Given the description of an element on the screen output the (x, y) to click on. 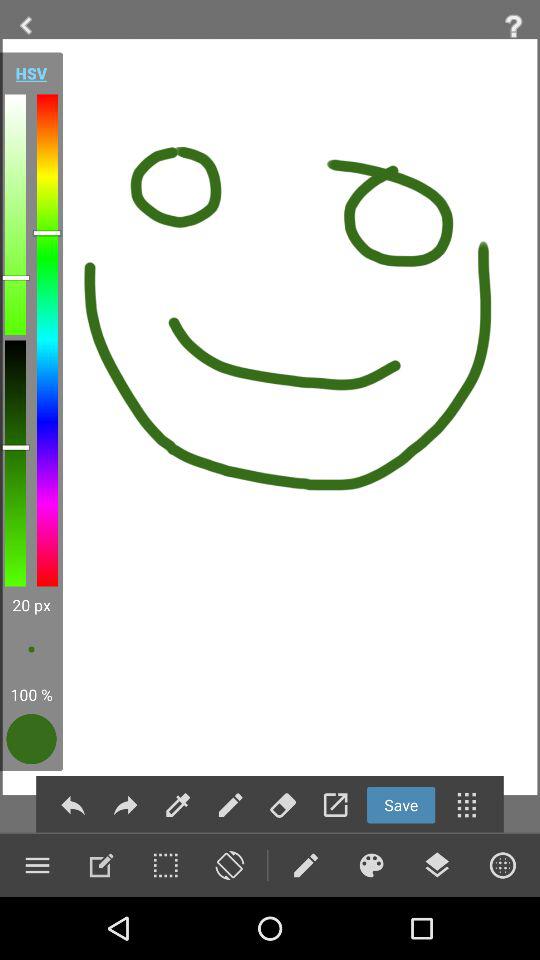
go to previous (26, 26)
